Given the description of an element on the screen output the (x, y) to click on. 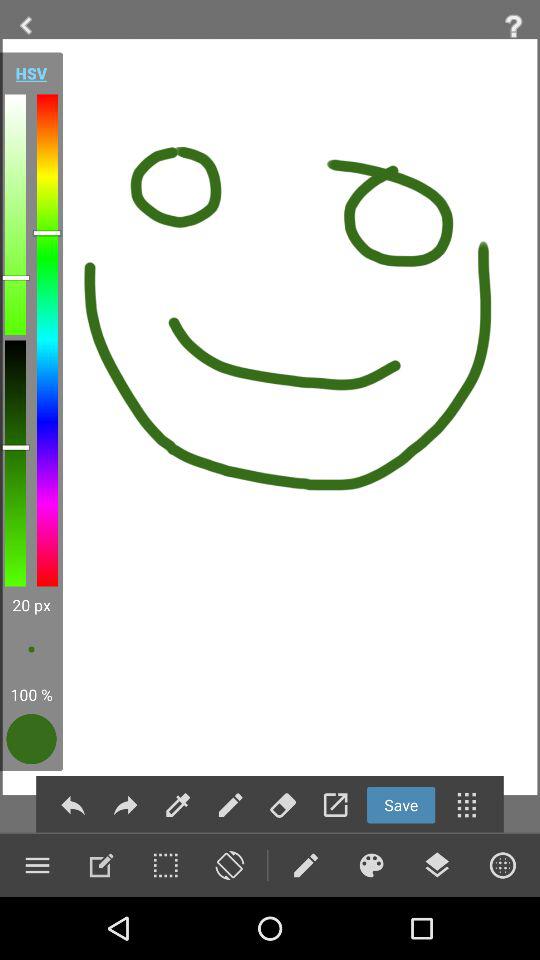
go to previous (26, 26)
